Given the description of an element on the screen output the (x, y) to click on. 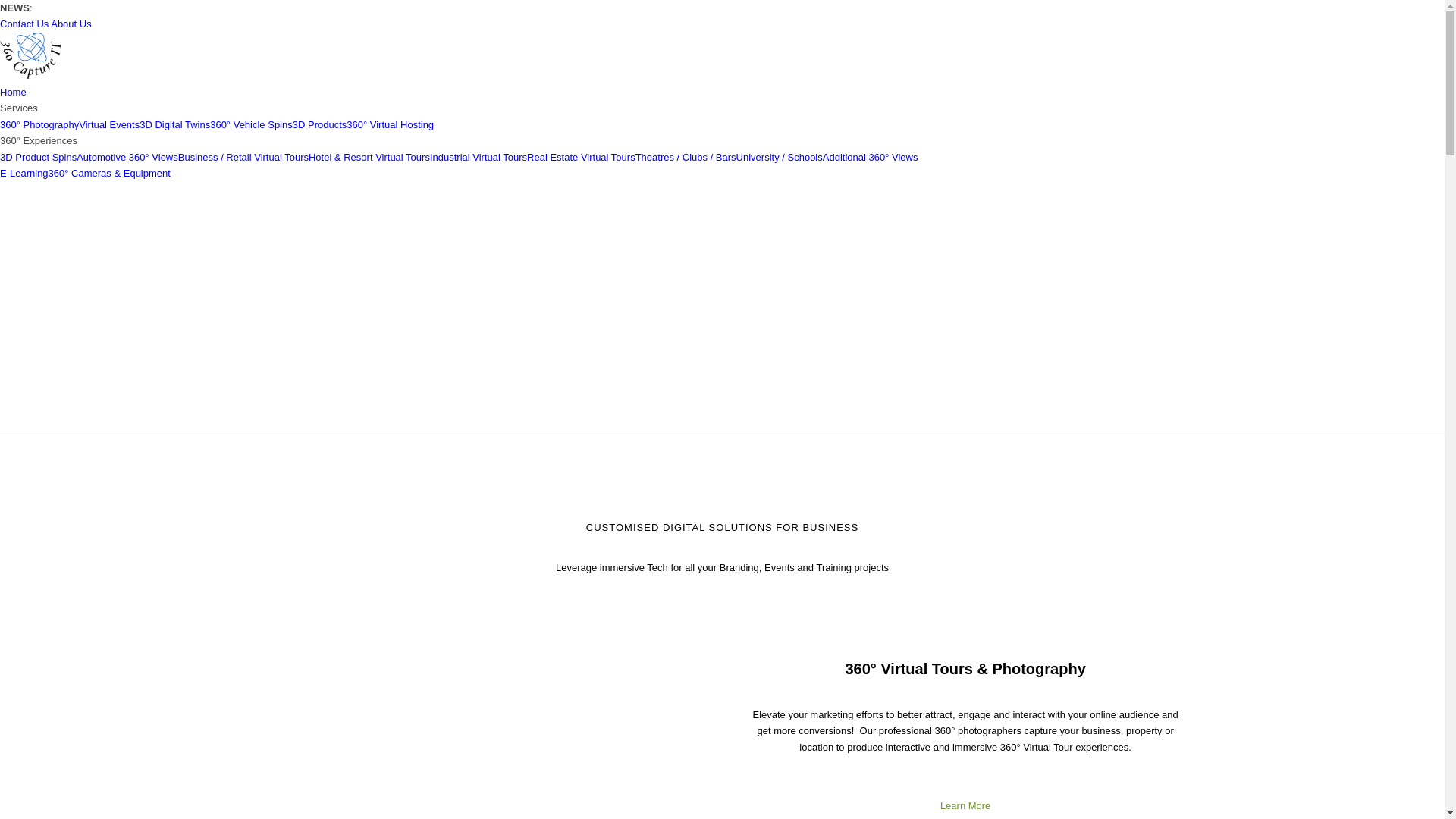
Business / Retail Virtual Tours Element type: text (243, 157)
3D Product Spins Element type: text (38, 157)
3D Products Element type: text (319, 124)
Real Estate Virtual Tours Element type: text (581, 157)
Theatres / Clubs / Bars Element type: text (685, 157)
University / Schools Element type: text (779, 157)
Industrial Virtual Tours Element type: text (478, 157)
About Us Element type: text (70, 23)
Virtual Events Element type: text (108, 124)
Contact Us Element type: text (24, 23)
3D Digital Twins Element type: text (174, 124)
Home Element type: text (13, 91)
Hotel & Resort Virtual Tours Element type: text (368, 157)
E-Learning Element type: text (24, 172)
